Given the description of an element on the screen output the (x, y) to click on. 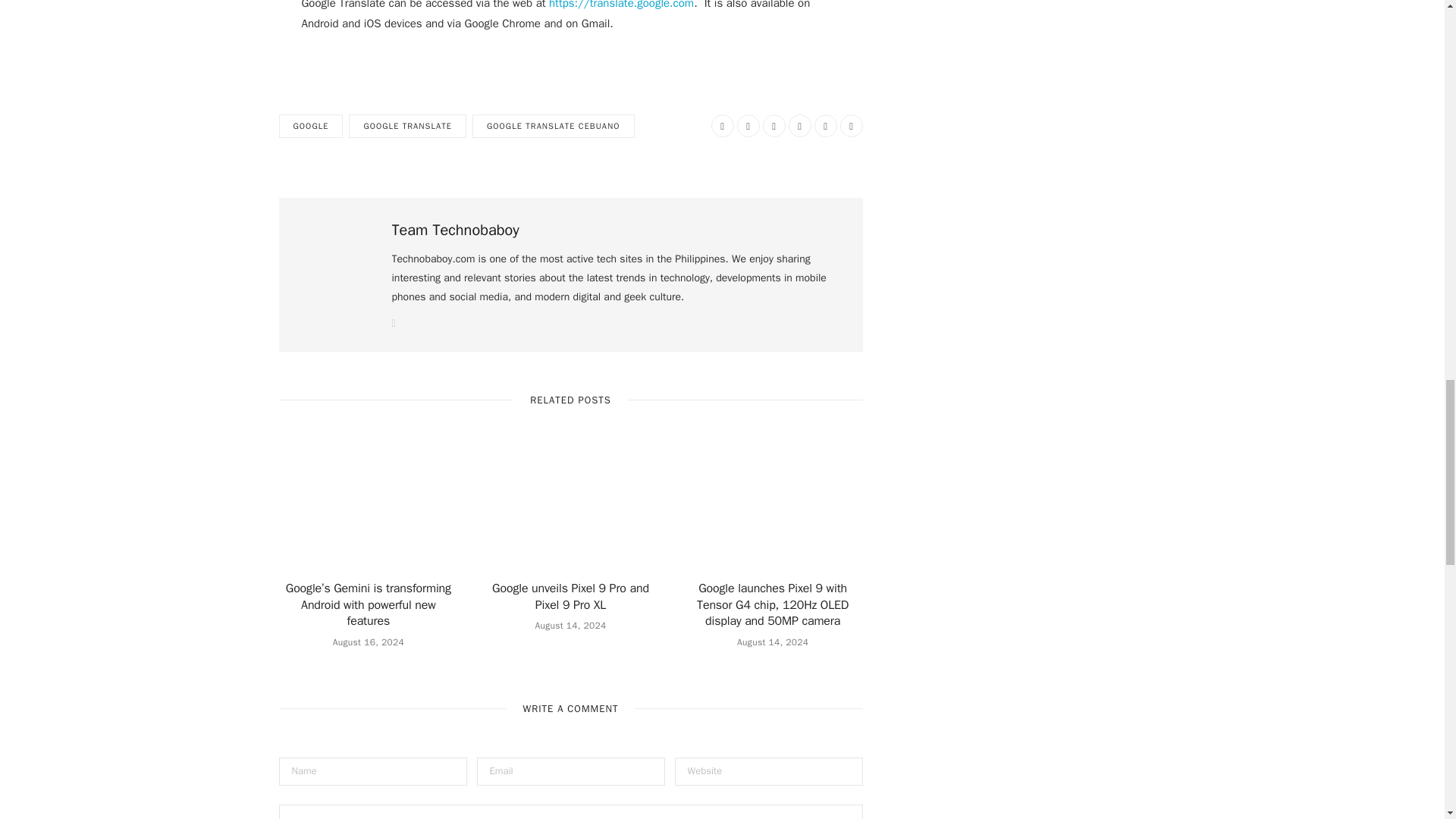
Posts by Team Technobaboy (454, 230)
GOOGLE TRANSLATE (407, 126)
Twitter (748, 125)
Team Technobaboy (454, 230)
GOOGLE TRANSLATE CEBUANO (552, 126)
August 14, 2024 (569, 625)
GOOGLE (311, 126)
Google unveils Pixel 9 Pro and Pixel 9 Pro XL (570, 596)
Google unveils Pixel 9 Pro and Pixel 9 Pro XL (570, 508)
August 16, 2024 (368, 642)
